Given the description of an element on the screen output the (x, y) to click on. 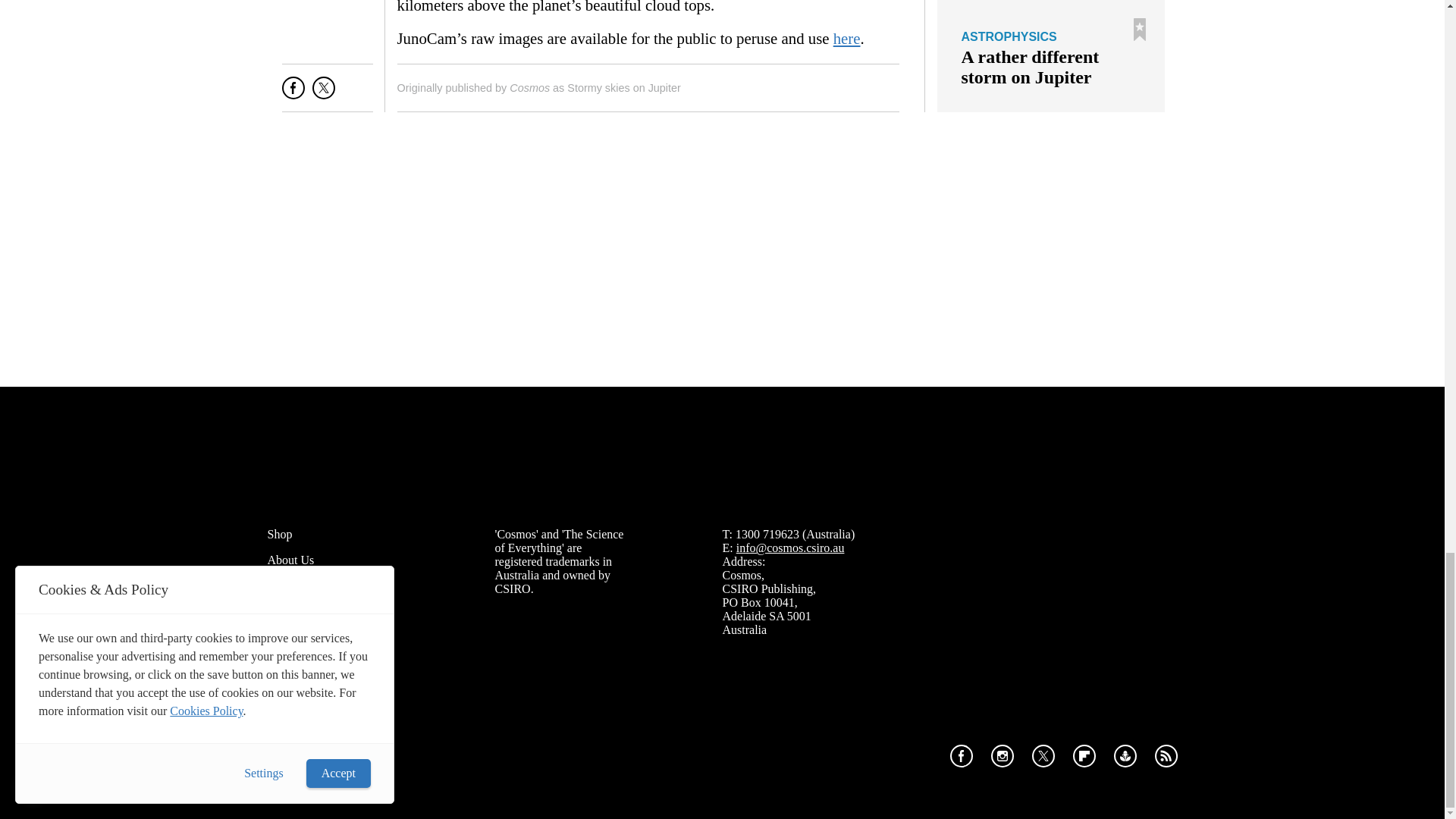
here (846, 37)
Tweet (323, 93)
Stormy skies on Jupiter (624, 87)
Share on Facebook (293, 93)
